Given the description of an element on the screen output the (x, y) to click on. 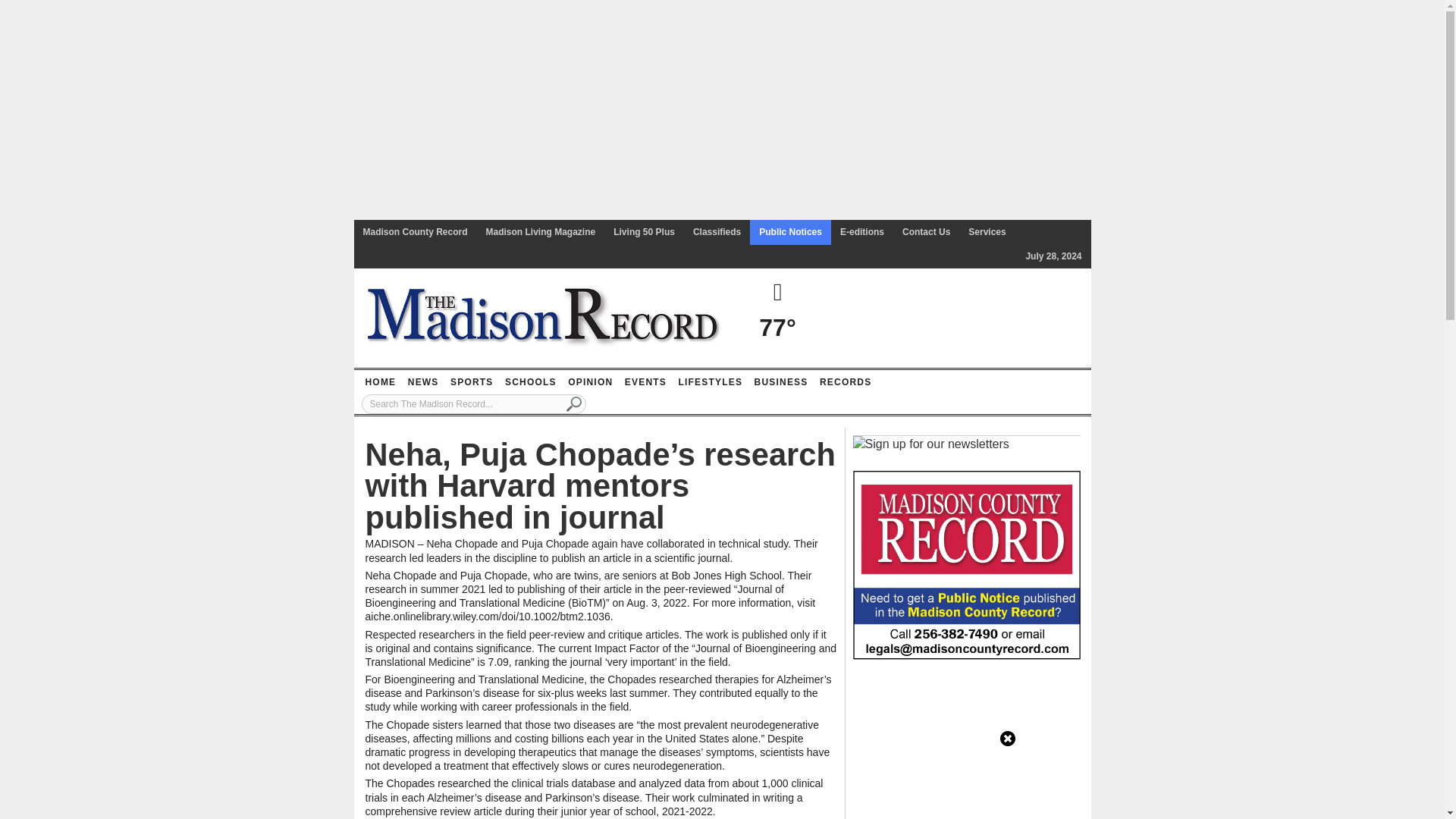
BUSINESS (781, 381)
3rd party ad content (965, 746)
SCHOOLS (530, 381)
Madison Living Magazine (541, 232)
Go (574, 403)
NEWS (423, 381)
Madison County Record (414, 232)
Get Legals or Public Notices Published (965, 563)
Search The Madison Record... (473, 403)
HOME (379, 381)
OPINION (589, 381)
LIFESTYLES (709, 381)
Public Notices (790, 232)
RECORDS (845, 381)
